Given the description of an element on the screen output the (x, y) to click on. 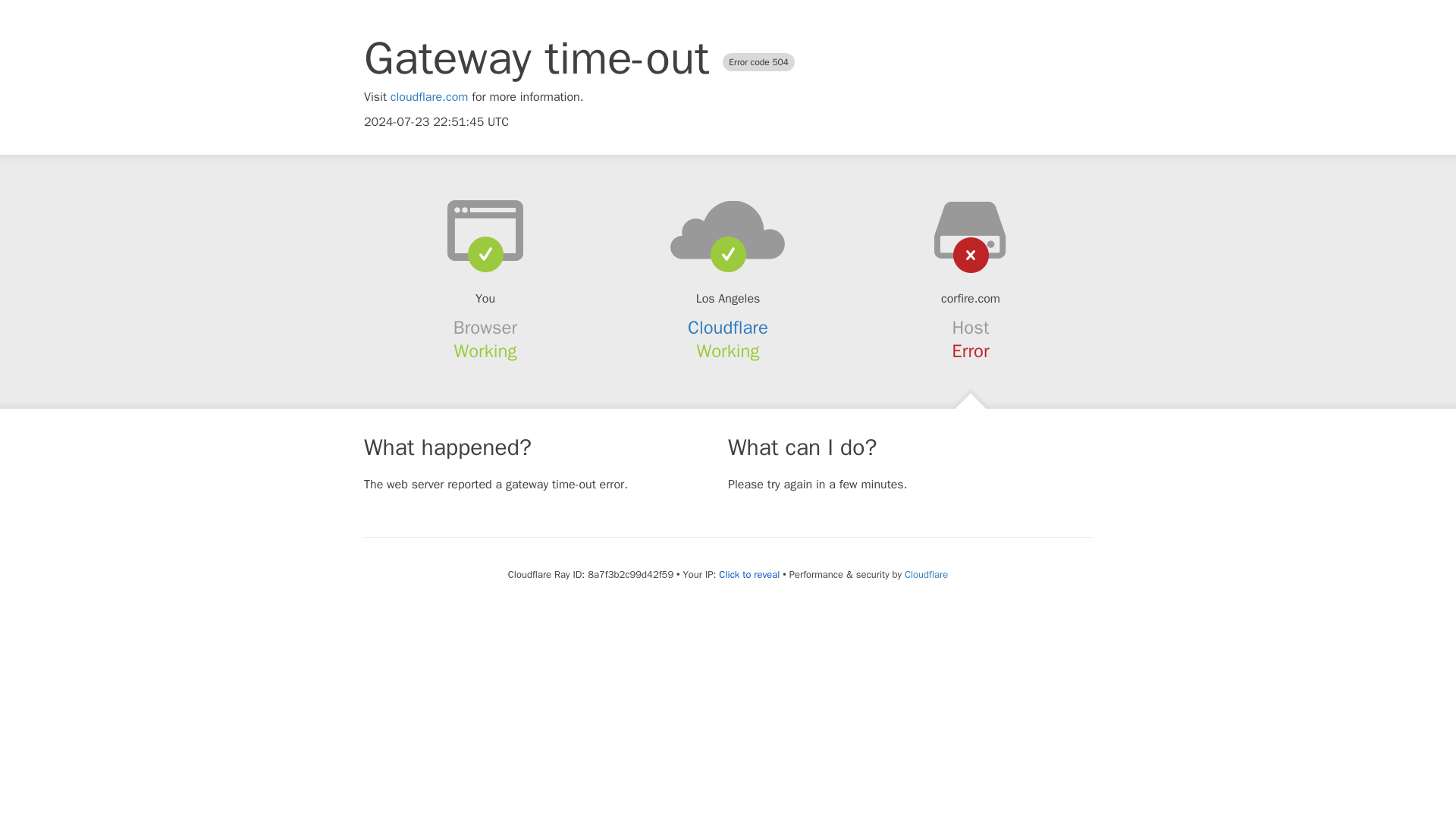
Cloudflare (925, 574)
Cloudflare (727, 327)
Click to reveal (748, 574)
cloudflare.com (429, 96)
